Given the description of an element on the screen output the (x, y) to click on. 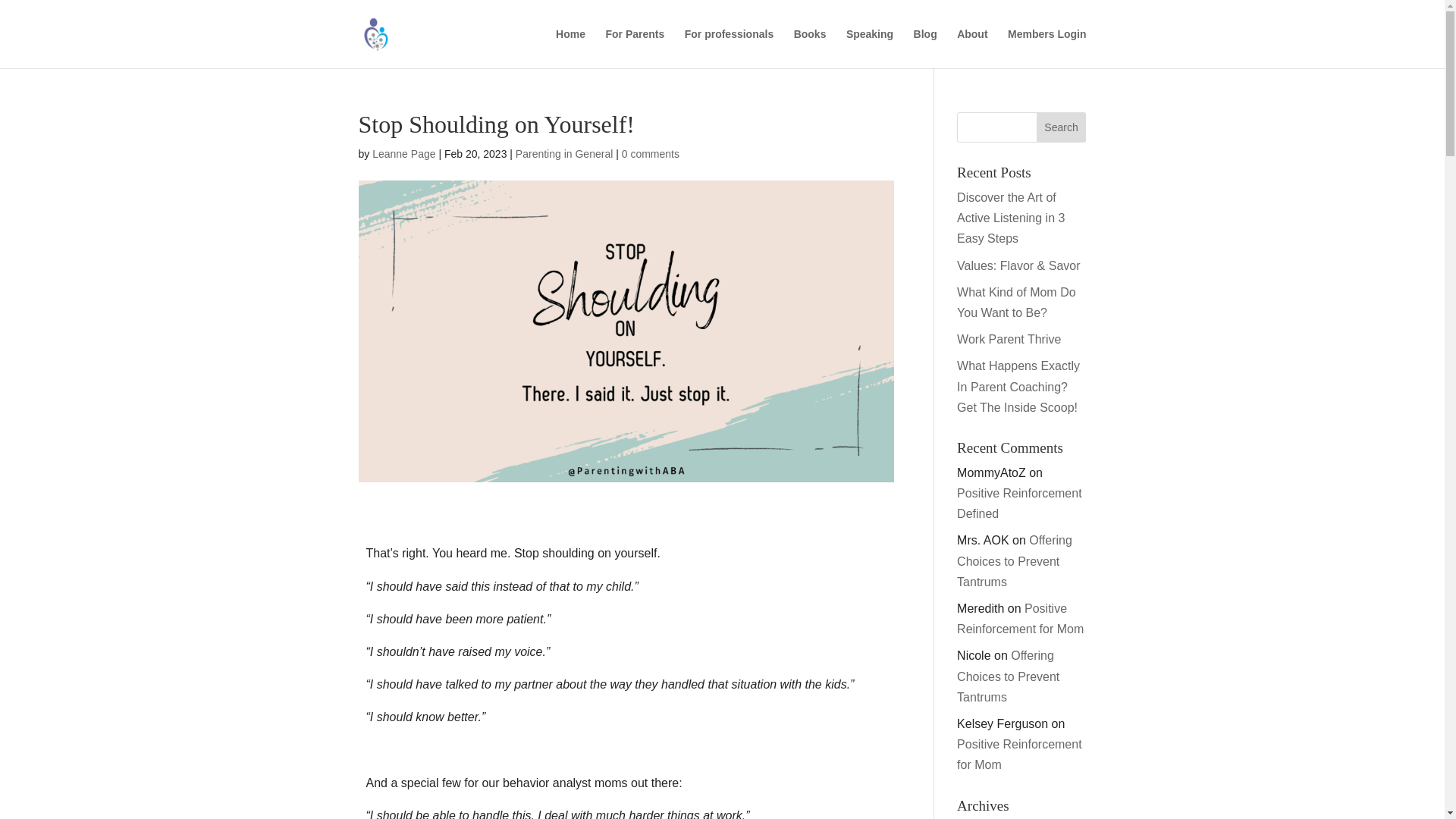
Positive Reinforcement for Mom (1019, 618)
Search (1061, 127)
Offering Choices to Prevent Tantrums (1013, 560)
Posts by Leanne Page (403, 153)
Search (1061, 127)
Leanne Page (403, 153)
Work Parent Thrive (1008, 338)
Speaking (869, 47)
Positive Reinforcement for Mom (1018, 754)
